Given the description of an element on the screen output the (x, y) to click on. 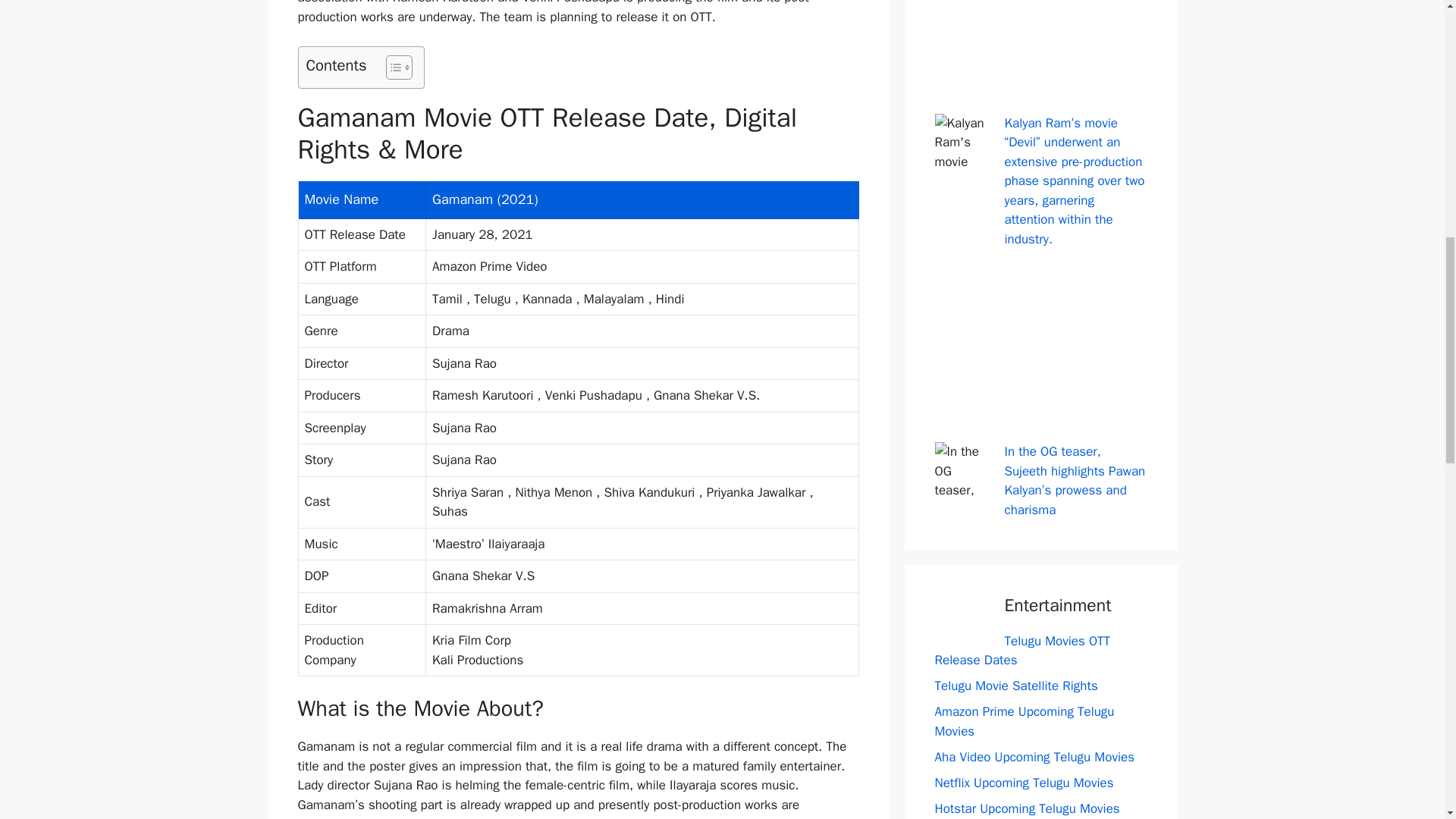
Telugu Movie Satellite Rights (1015, 685)
Telugu Movies OTT Release Dates (1021, 651)
Amazon Prime Upcoming Telugu Movies (1023, 721)
Netflix Upcoming Telugu Movies (1023, 782)
Aha Video Upcoming Telugu Movies (1034, 756)
